Given the description of an element on the screen output the (x, y) to click on. 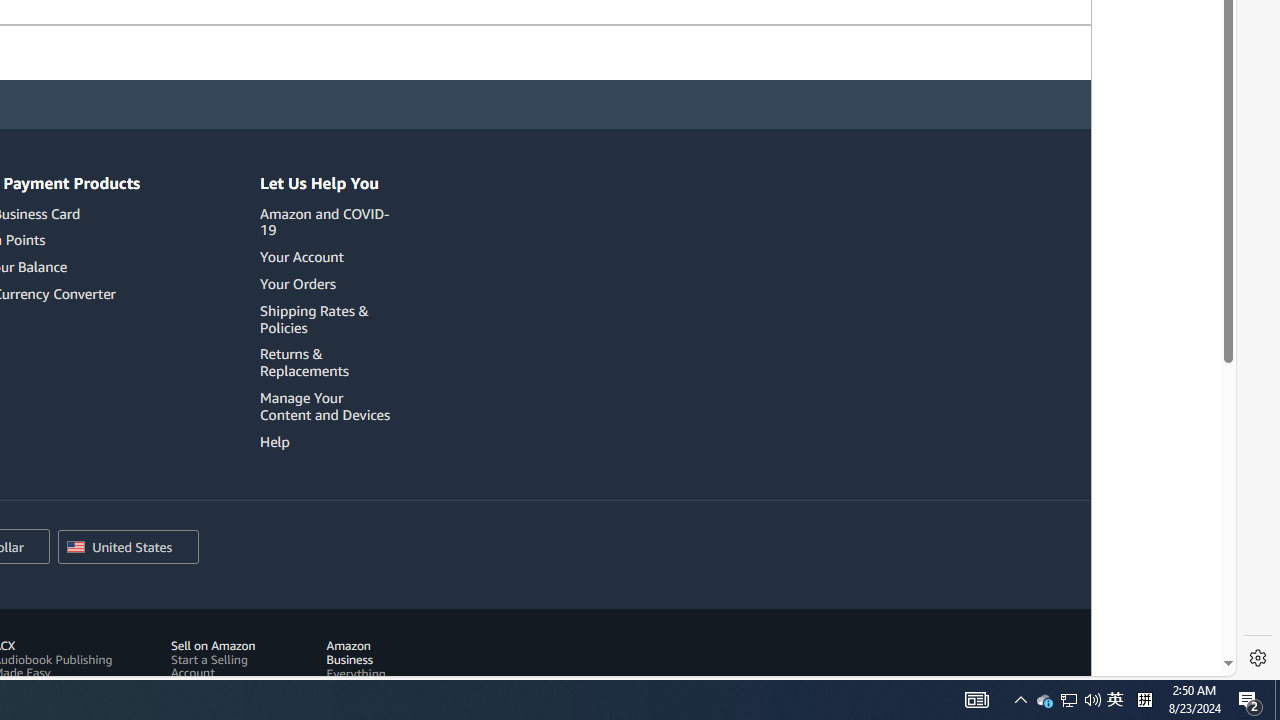
Help (328, 441)
